Given the description of an element on the screen output the (x, y) to click on. 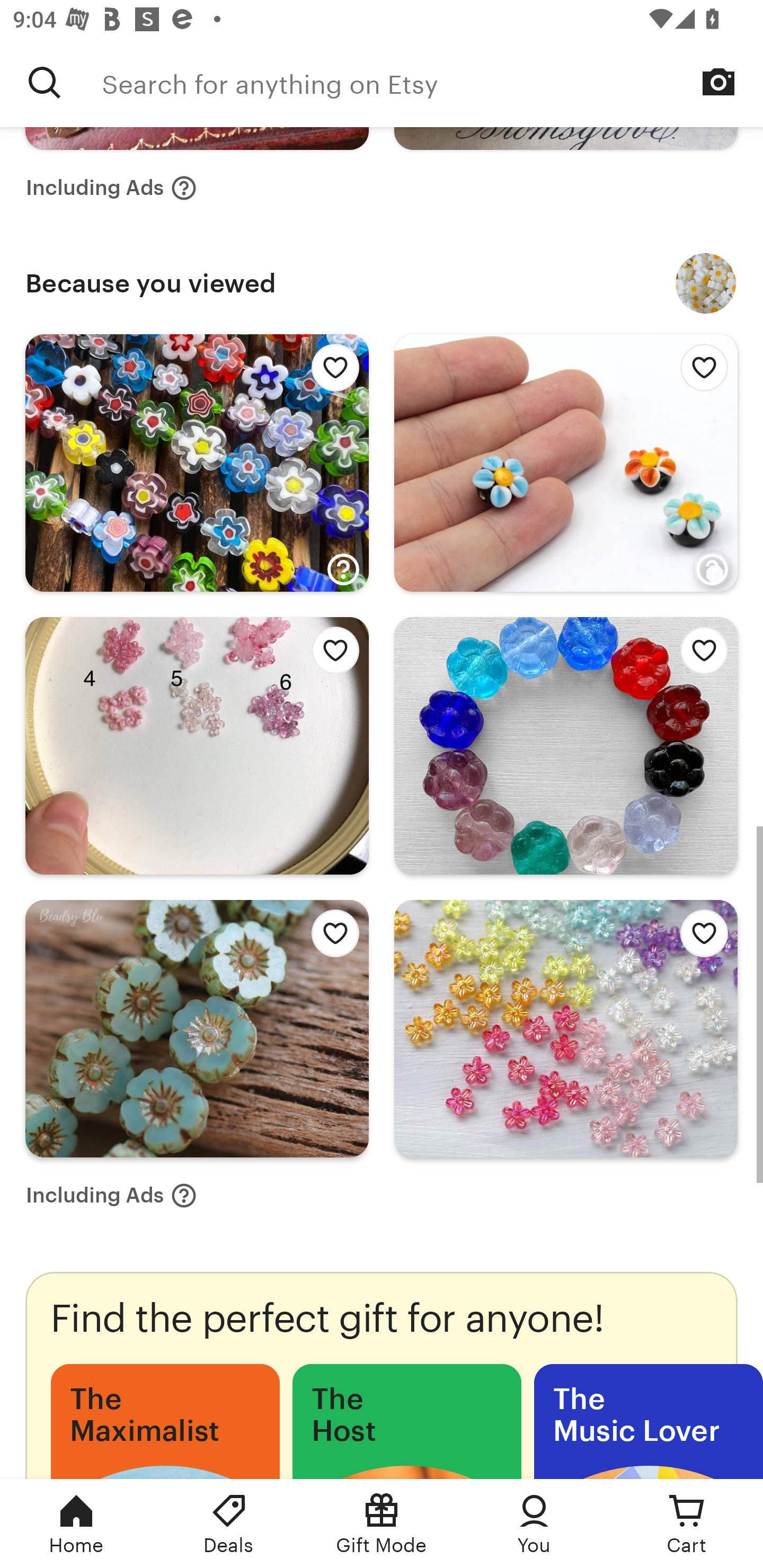
Search for anything on Etsy (44, 82)
Search by image (718, 81)
Search for anything on Etsy (432, 82)
Including Ads (111, 187)
Millefiori Glass Daisy Flower Beads (705, 282)
Including Ads (111, 1195)
Find the perfect gift for anyone! (381, 1374)
The Maximalist (165, 1421)
The Host (406, 1421)
The Music Lover (648, 1421)
Deals (228, 1523)
Gift Mode (381, 1523)
You (533, 1523)
Cart (686, 1523)
